Given the description of an element on the screen output the (x, y) to click on. 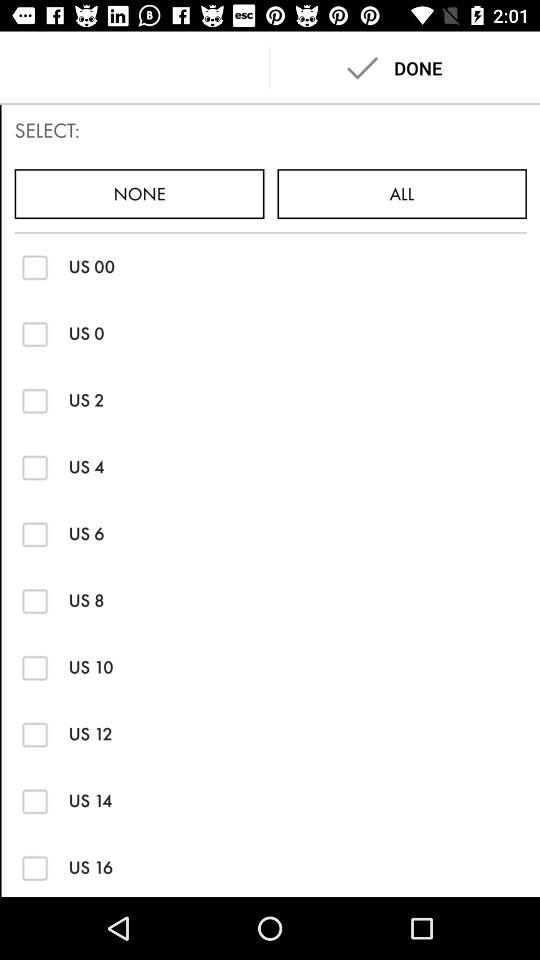
selects the size us 6 (34, 533)
